Given the description of an element on the screen output the (x, y) to click on. 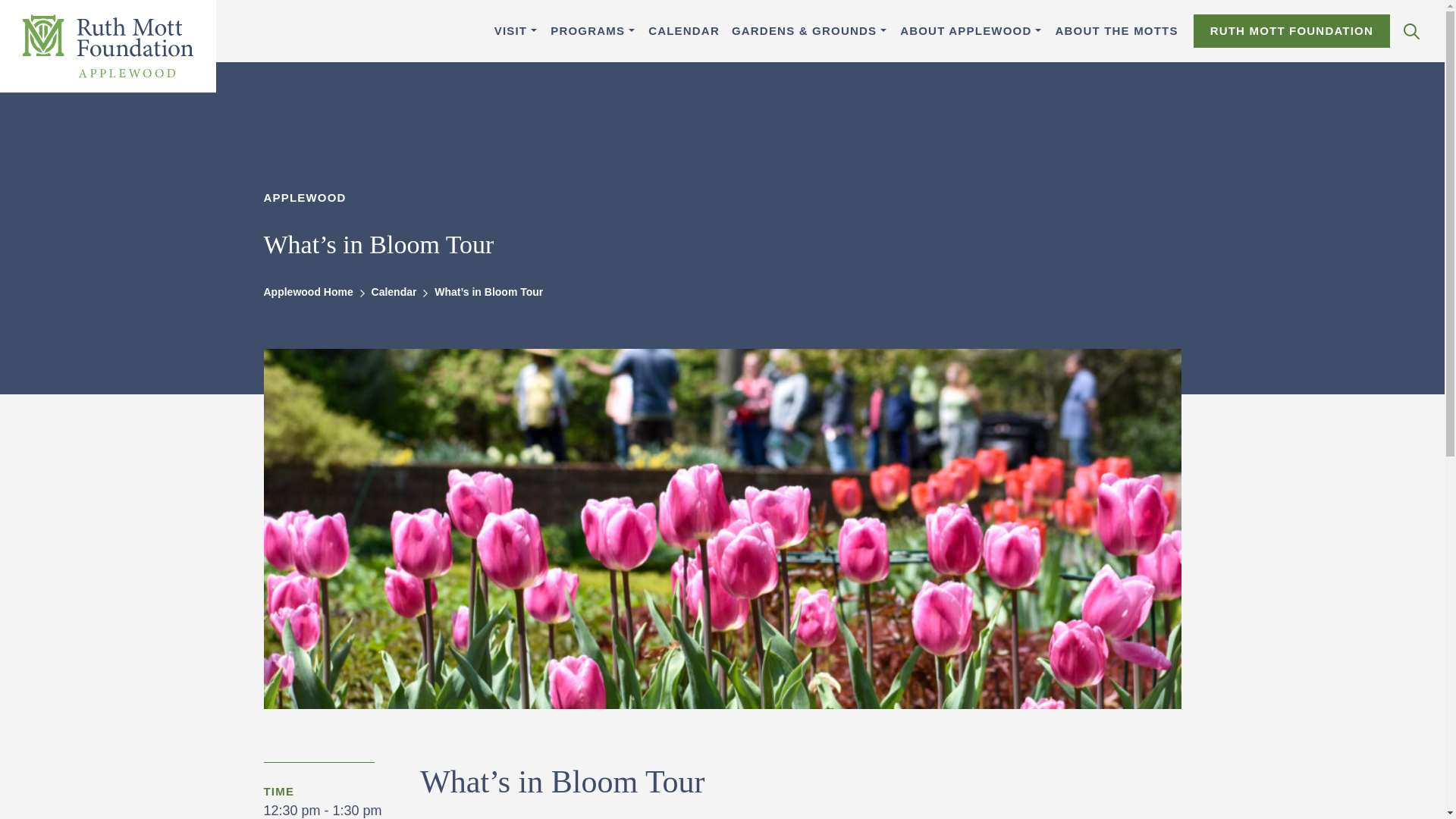
Search Icon (1411, 31)
CALENDAR (683, 31)
ABOUT THE MOTTS (1115, 31)
PROGRAMS (587, 31)
ABOUT APPLEWOOD (964, 31)
